Given the description of an element on the screen output the (x, y) to click on. 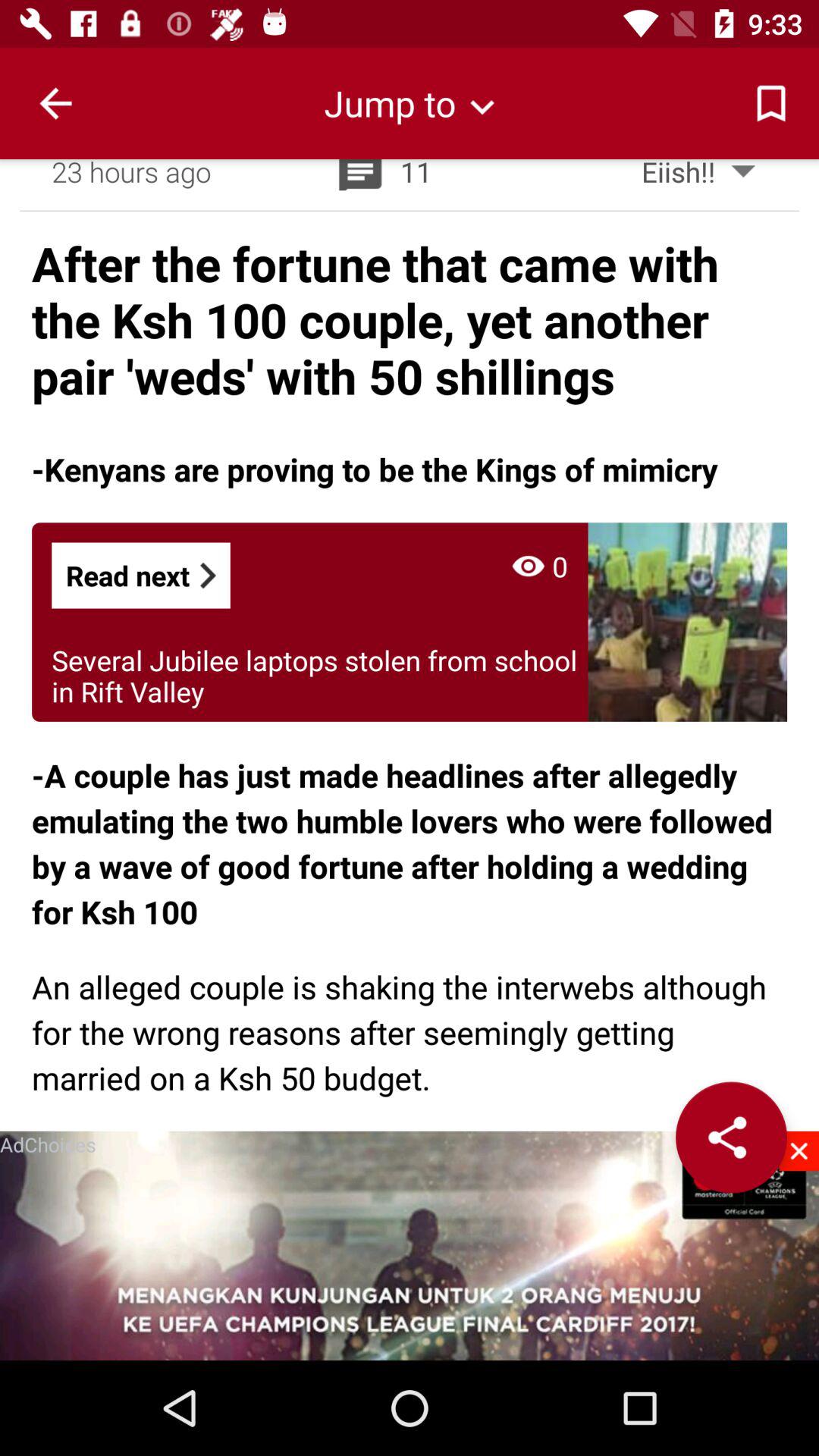
flip to the an alleged couple app (409, 1032)
